Given the description of an element on the screen output the (x, y) to click on. 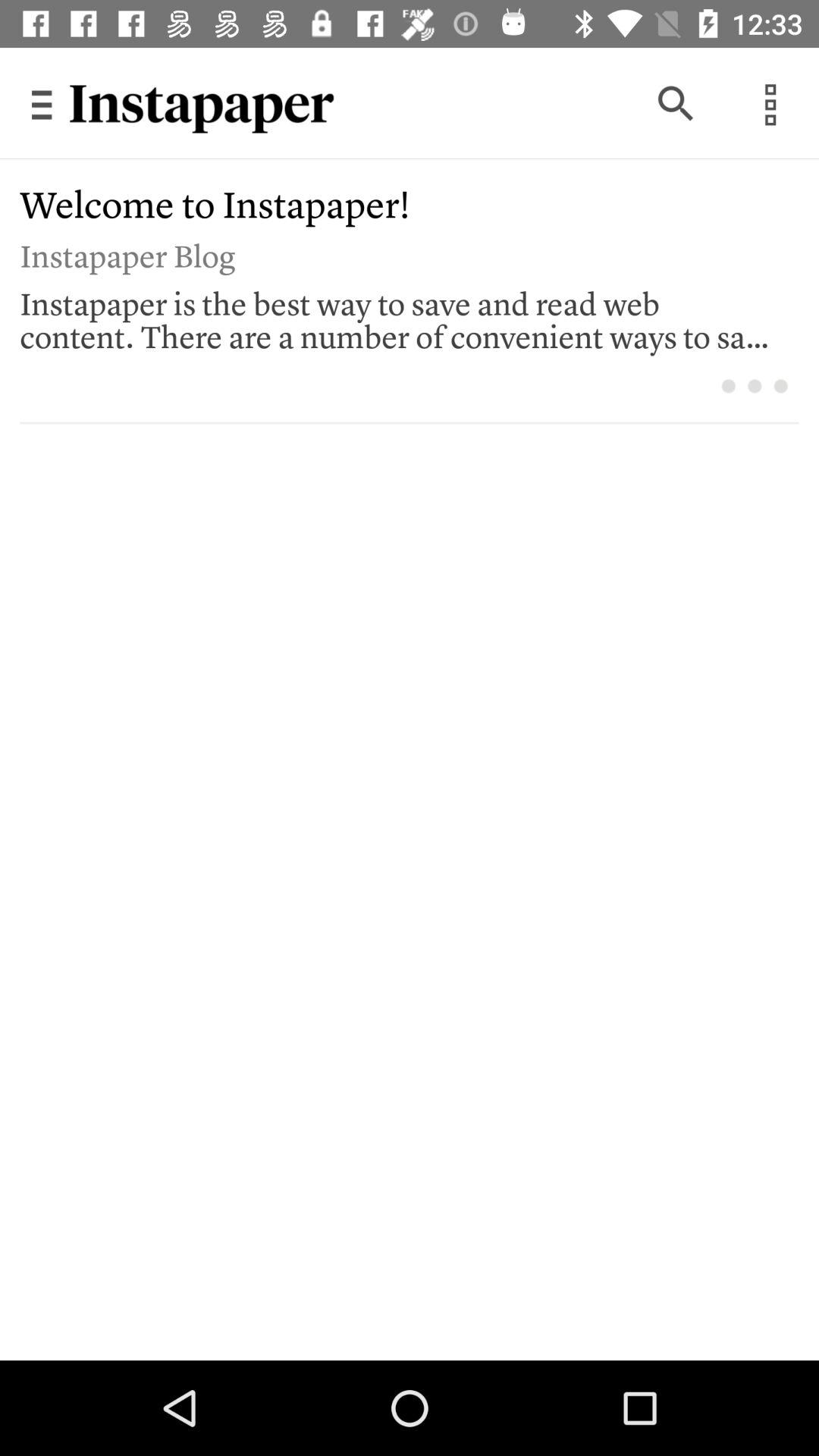
press the instapaper is the item (399, 316)
